Given the description of an element on the screen output the (x, y) to click on. 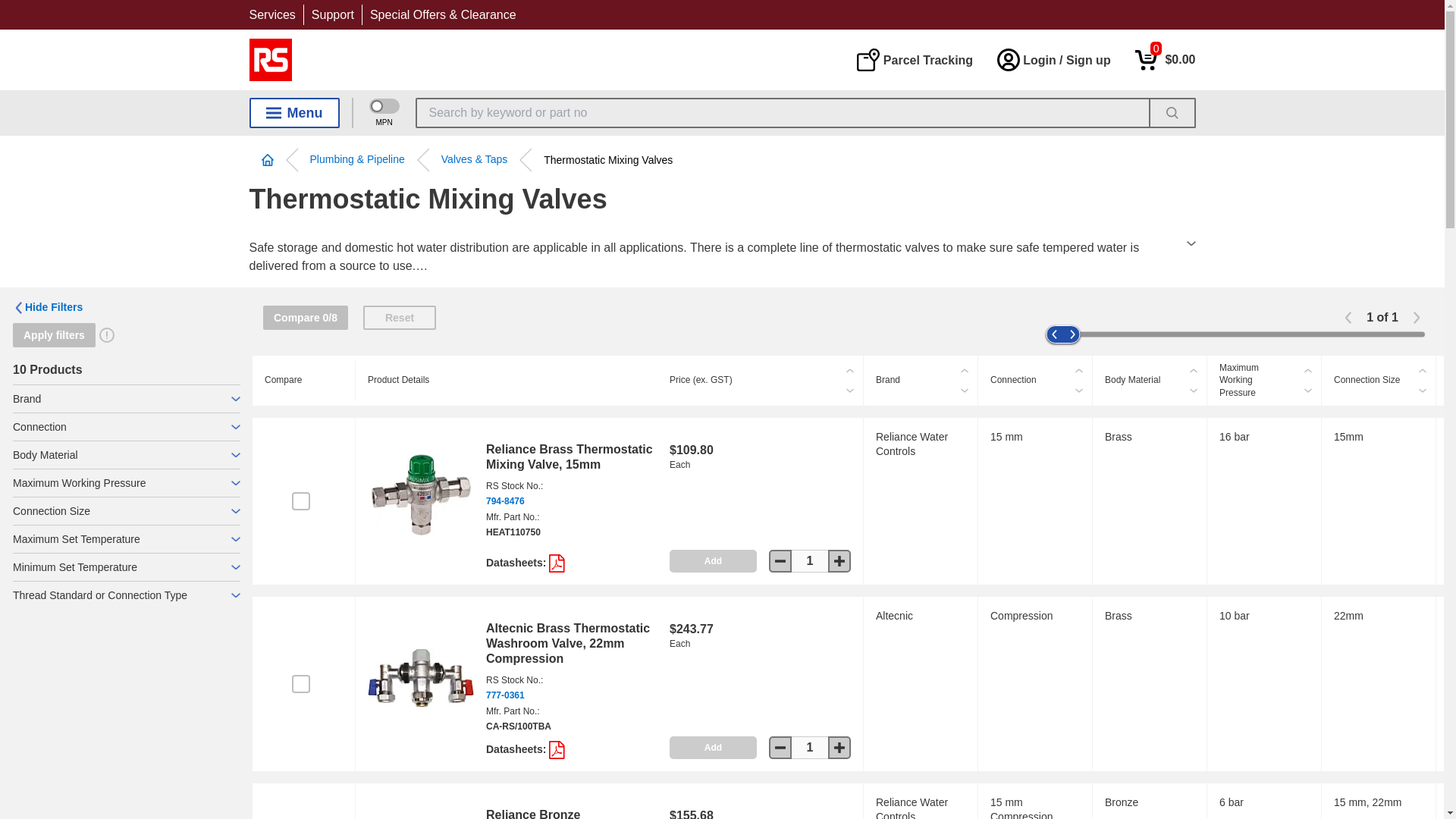
Sort descending (1422, 390)
Sort ascending (1307, 370)
Sort descending (850, 390)
Sort ascending (1193, 370)
Parcel Tracking (914, 59)
0 (1165, 59)
Sort descending (1193, 390)
1 (810, 747)
on (299, 501)
Sort descending (1078, 390)
Sort ascending (1422, 370)
Menu (293, 112)
1 (810, 560)
Sort descending (1307, 390)
Support (332, 14)
